Given the description of an element on the screen output the (x, y) to click on. 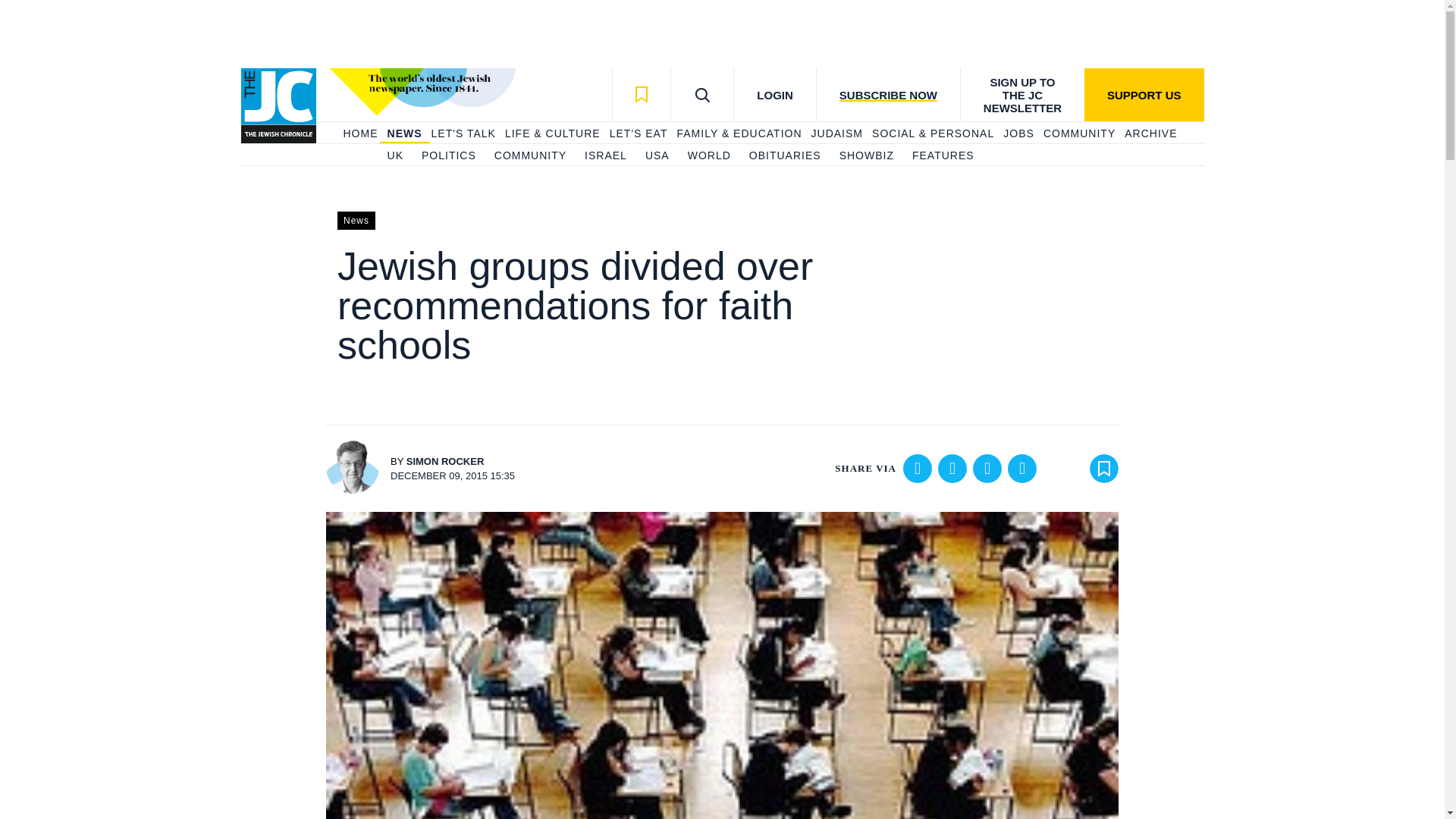
ARCHIVE (1150, 133)
FEATURES (943, 155)
NEWS (404, 133)
WORLD (708, 155)
SHOWBIZ (866, 155)
SIGN UP TO THE JC NEWSLETTER (1021, 94)
LOGIN (774, 94)
ISRAEL (606, 155)
POLITICS (449, 155)
JUDAISM (836, 133)
